Given the description of an element on the screen output the (x, y) to click on. 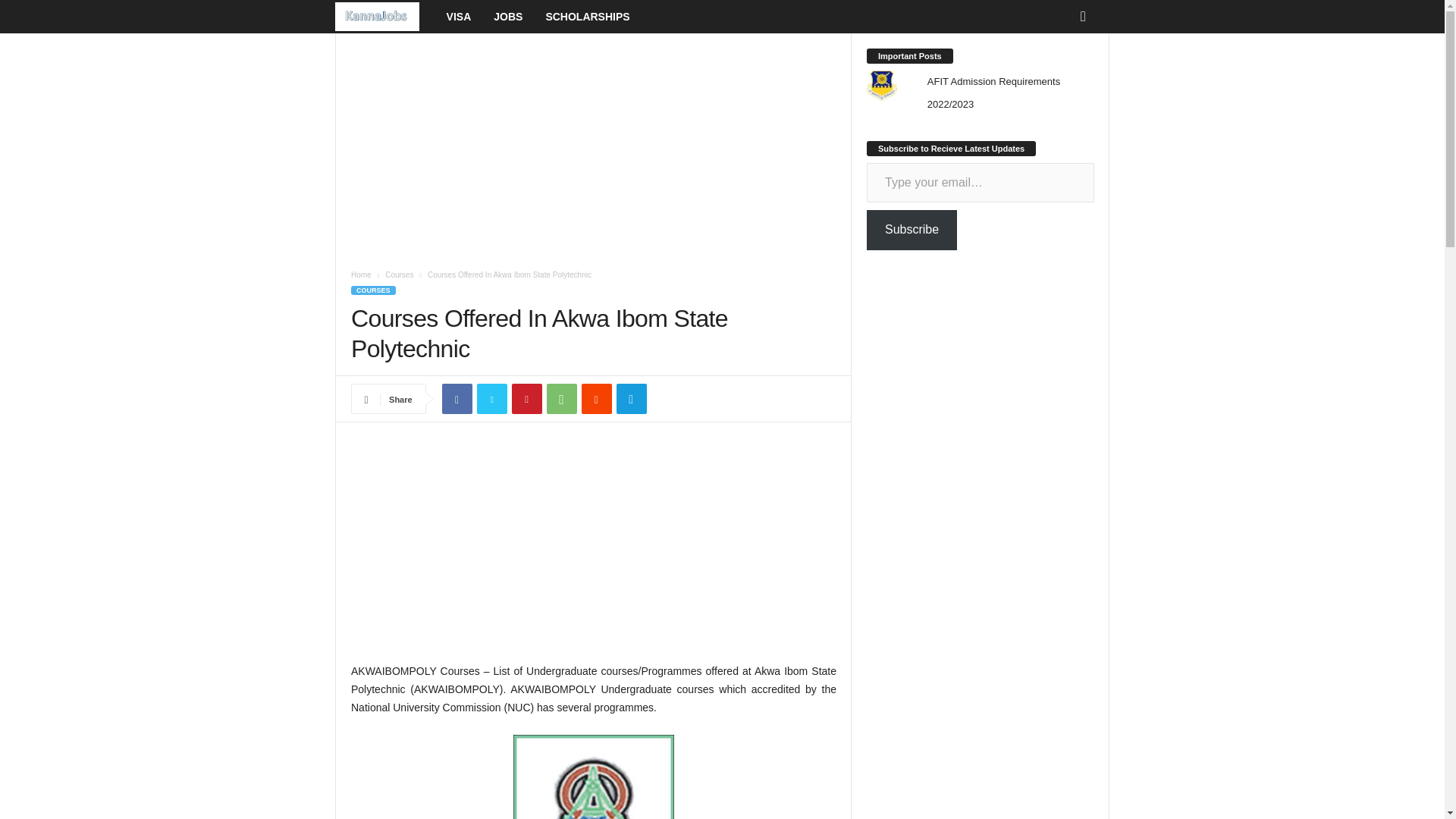
Home (360, 275)
Advertisement (593, 145)
ReddIt (595, 399)
VISA (459, 16)
KannaJobs (384, 16)
Advertisement (592, 549)
SCHOLARSHIPS (587, 16)
JOBS (507, 16)
View all posts in Courses (399, 275)
Twitter (491, 399)
Pinterest (526, 399)
Courses (399, 275)
COURSES (373, 289)
Facebook (456, 399)
Telegram (630, 399)
